Given the description of an element on the screen output the (x, y) to click on. 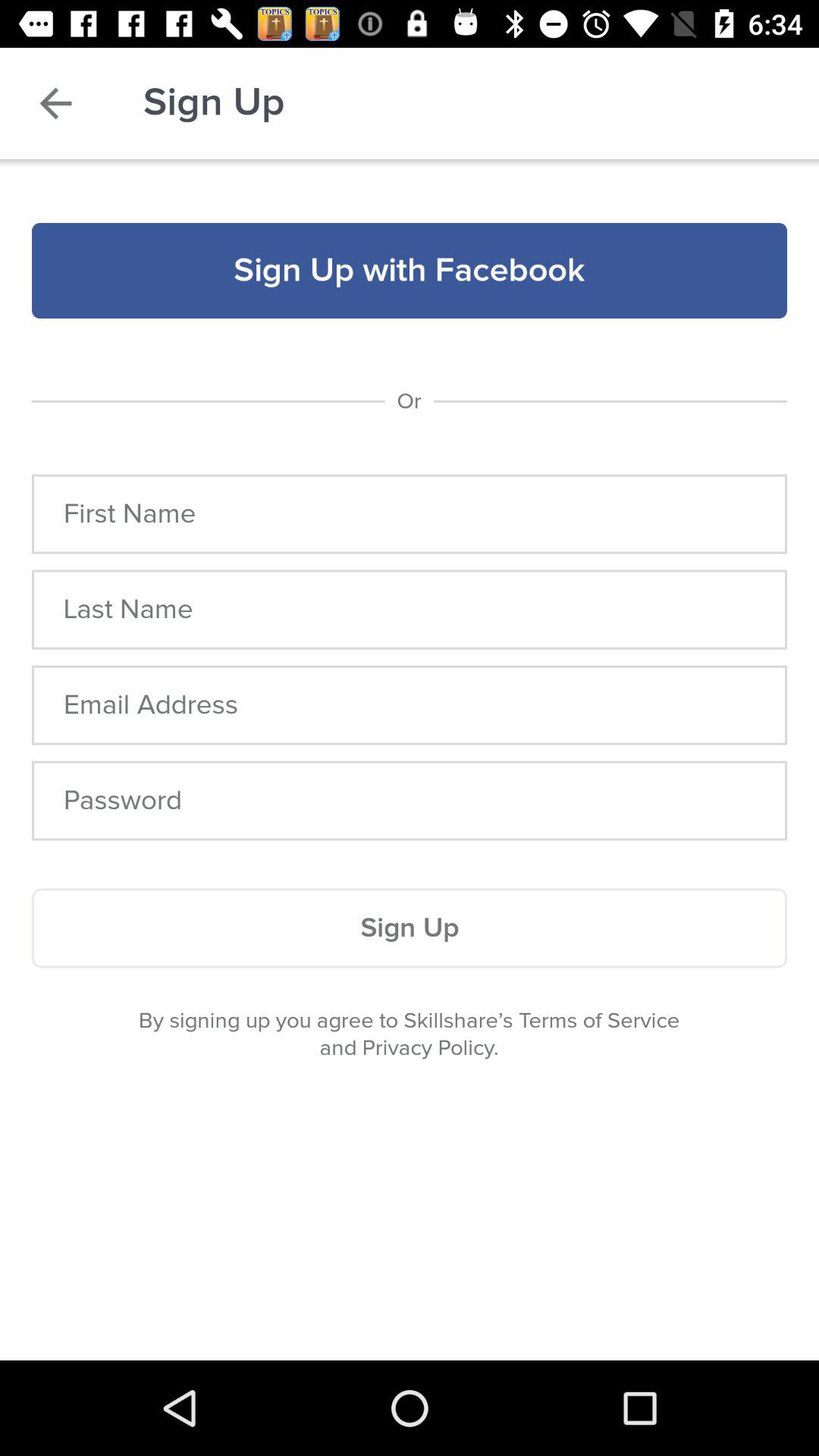
choose item above sign up icon (409, 800)
